Given the description of an element on the screen output the (x, y) to click on. 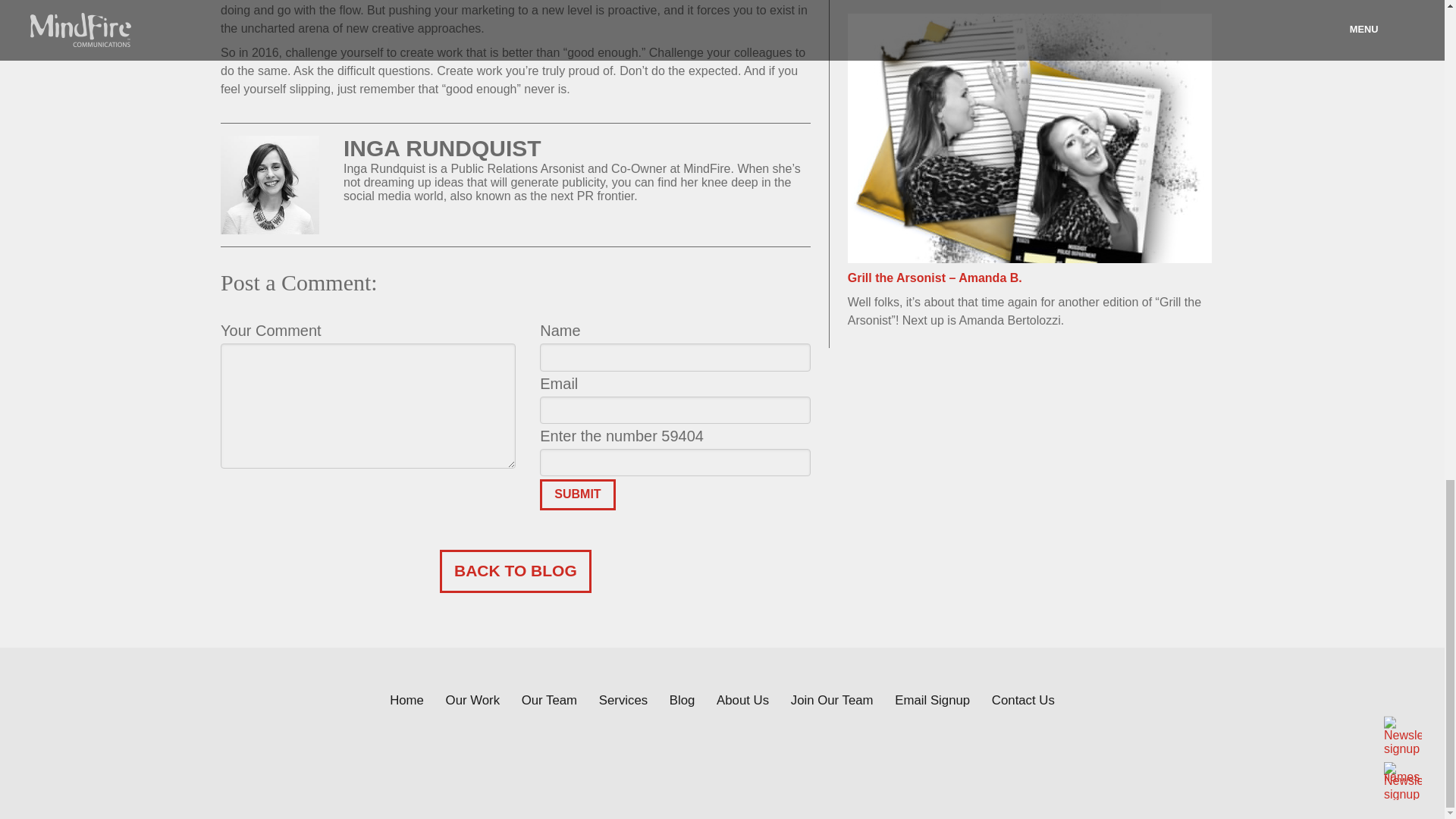
Services (622, 699)
Our Team (548, 699)
Blog (682, 699)
SUBMIT (577, 494)
Our Work (472, 699)
BACK TO BLOG (515, 570)
Home (406, 699)
